Given the description of an element on the screen output the (x, y) to click on. 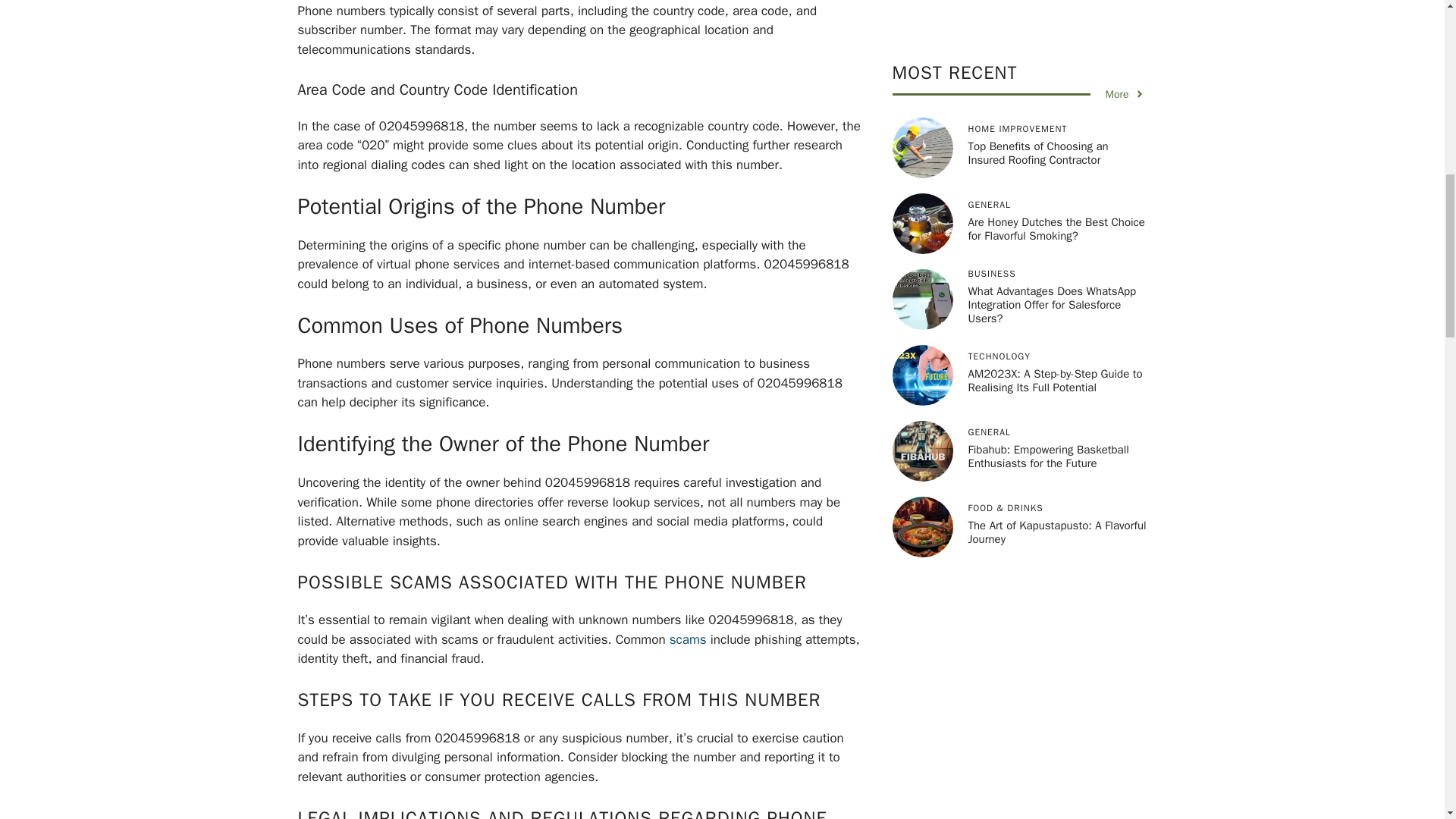
scams (687, 639)
